Given the description of an element on the screen output the (x, y) to click on. 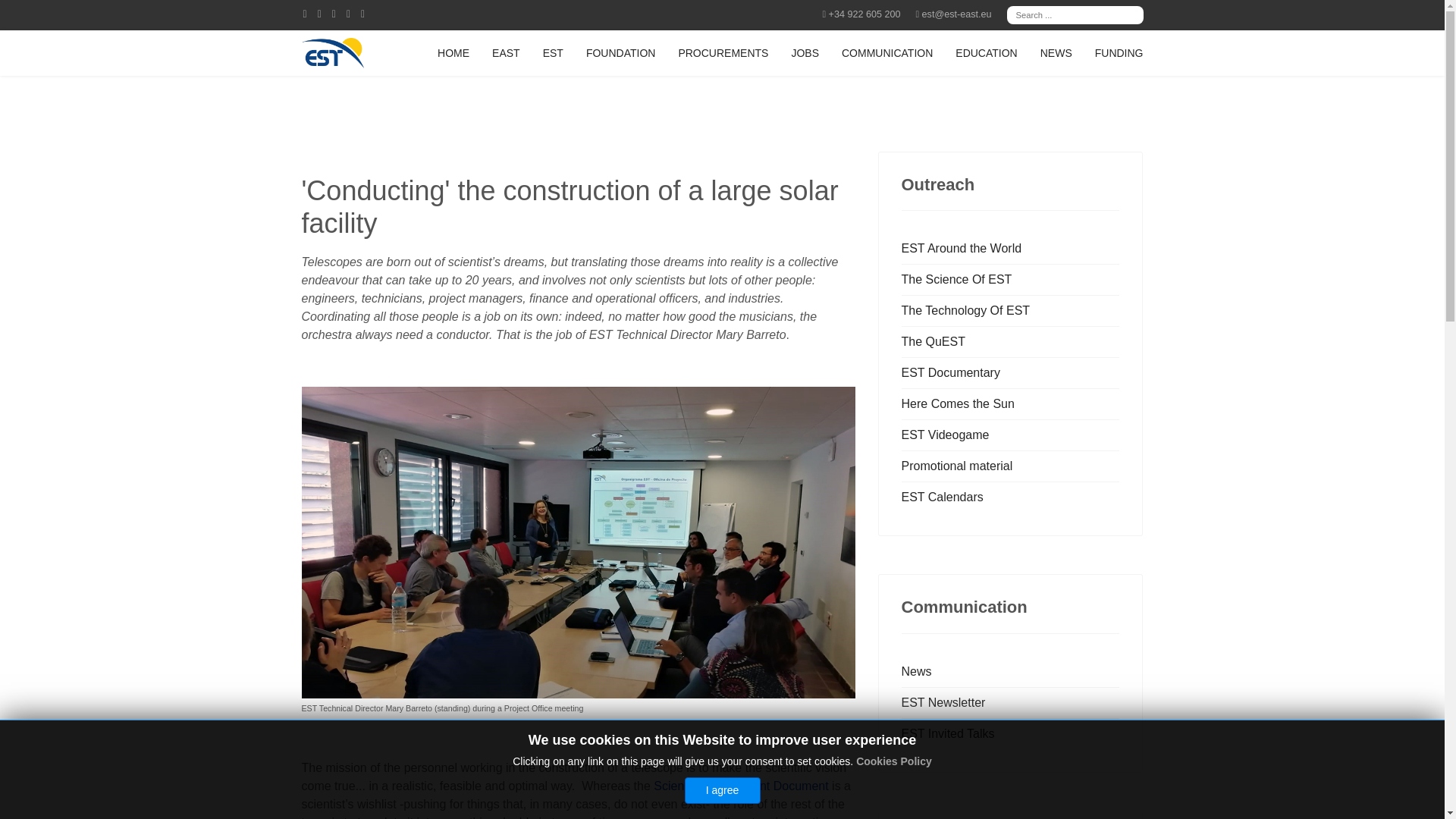
Science Requirement Document (740, 785)
EAST (505, 53)
EST Calendars (1010, 497)
EST Videogame (1010, 435)
FOUNDATION (620, 53)
The QuEST (1010, 341)
FUNDING (1118, 53)
COMMUNICATION (886, 53)
EST Documentary (1010, 372)
The Science Of EST (1010, 279)
Home (453, 53)
Here Comes the Sun (1010, 404)
The Technology Of EST (1010, 310)
EDUCATION (985, 53)
EST (553, 53)
